Given the description of an element on the screen output the (x, y) to click on. 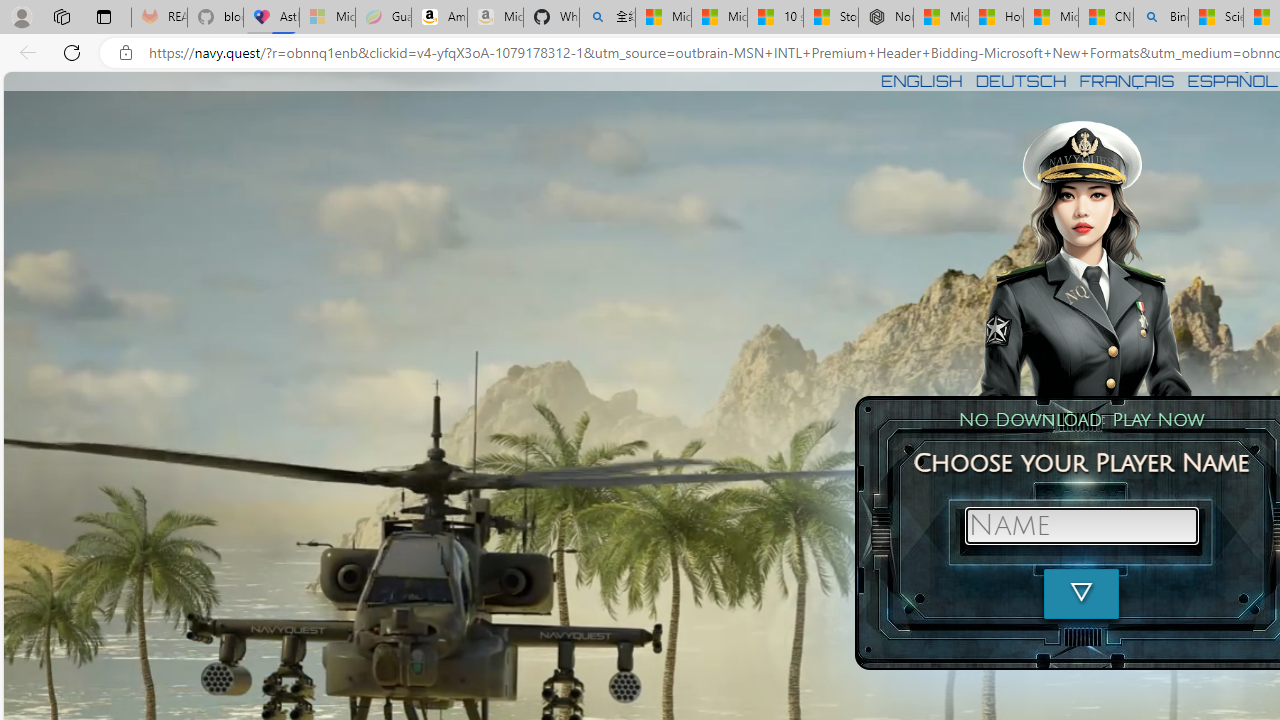
Stocks - MSN (830, 17)
DEUTSCH (1021, 80)
Microsoft-Report a Concern to Bing - Sleeping (326, 17)
View site information (125, 53)
Name (1081, 525)
Tab actions menu (104, 16)
Science - MSN (1215, 17)
